Given the description of an element on the screen output the (x, y) to click on. 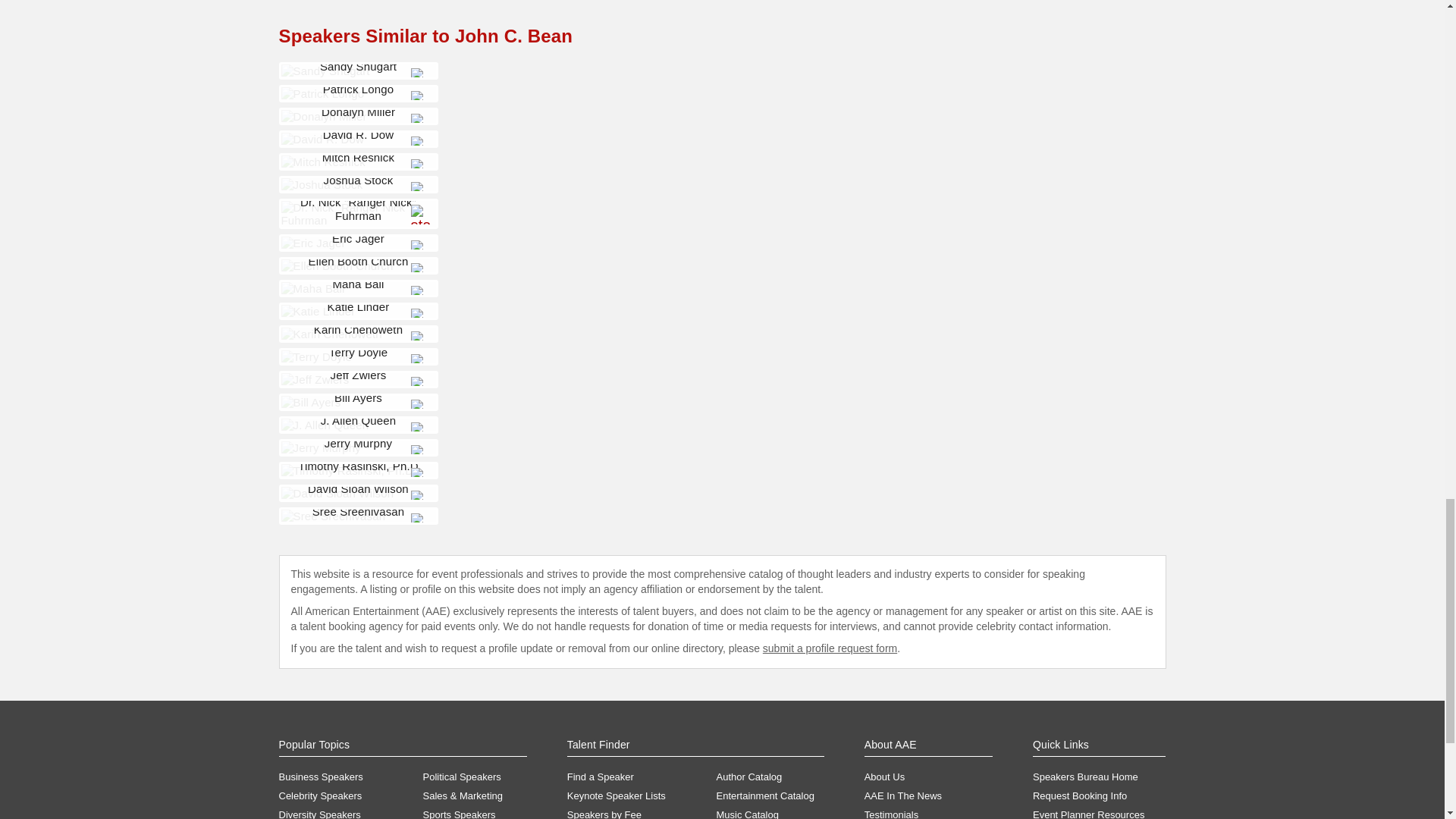
Sandy Shugart (325, 70)
Donalyn Miller (323, 115)
Patrick Longo (322, 92)
David R. Dow (322, 138)
